Given the description of an element on the screen output the (x, y) to click on. 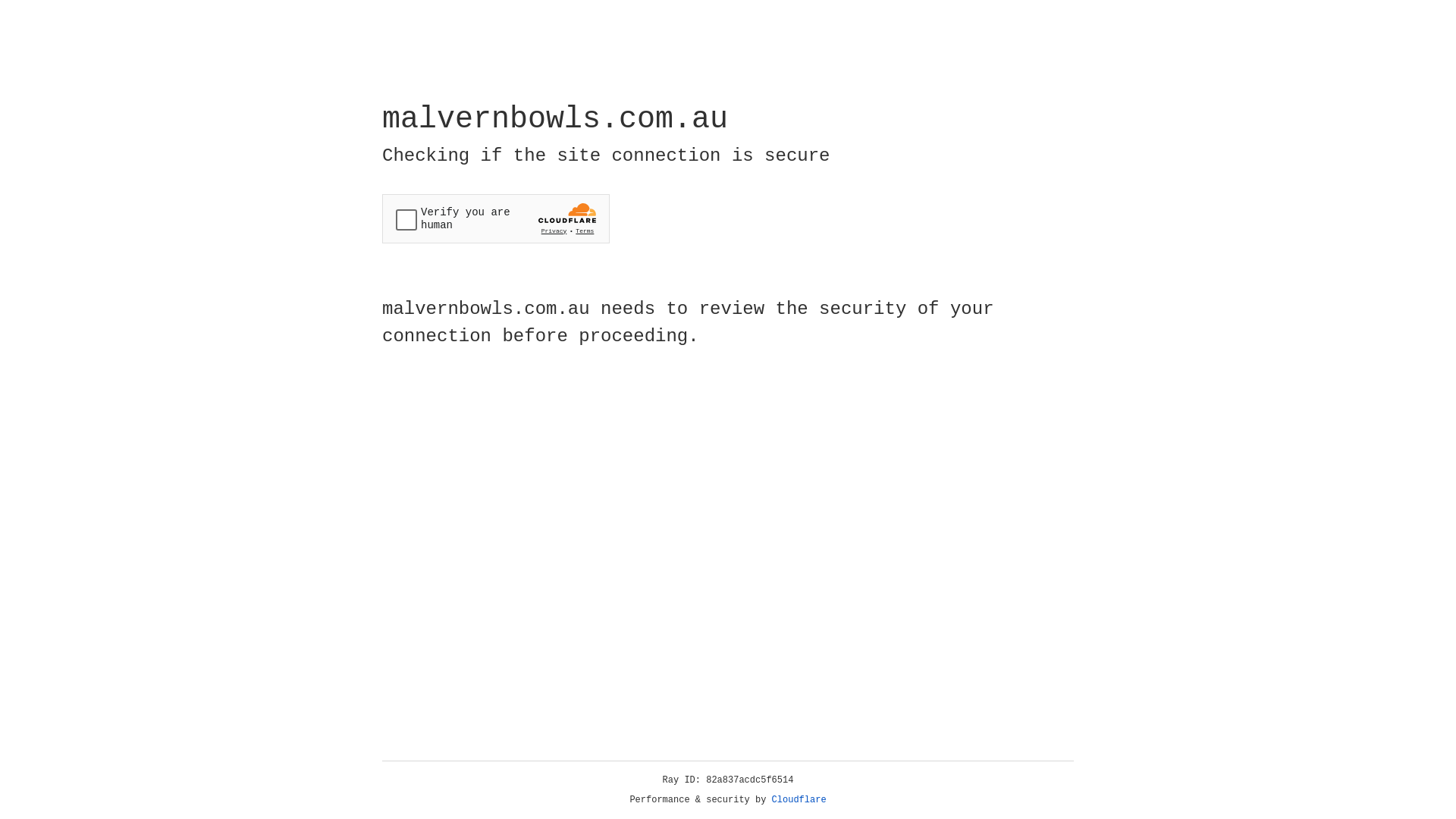
Widget containing a Cloudflare security challenge Element type: hover (495, 218)
Cloudflare Element type: text (798, 799)
